Given the description of an element on the screen output the (x, y) to click on. 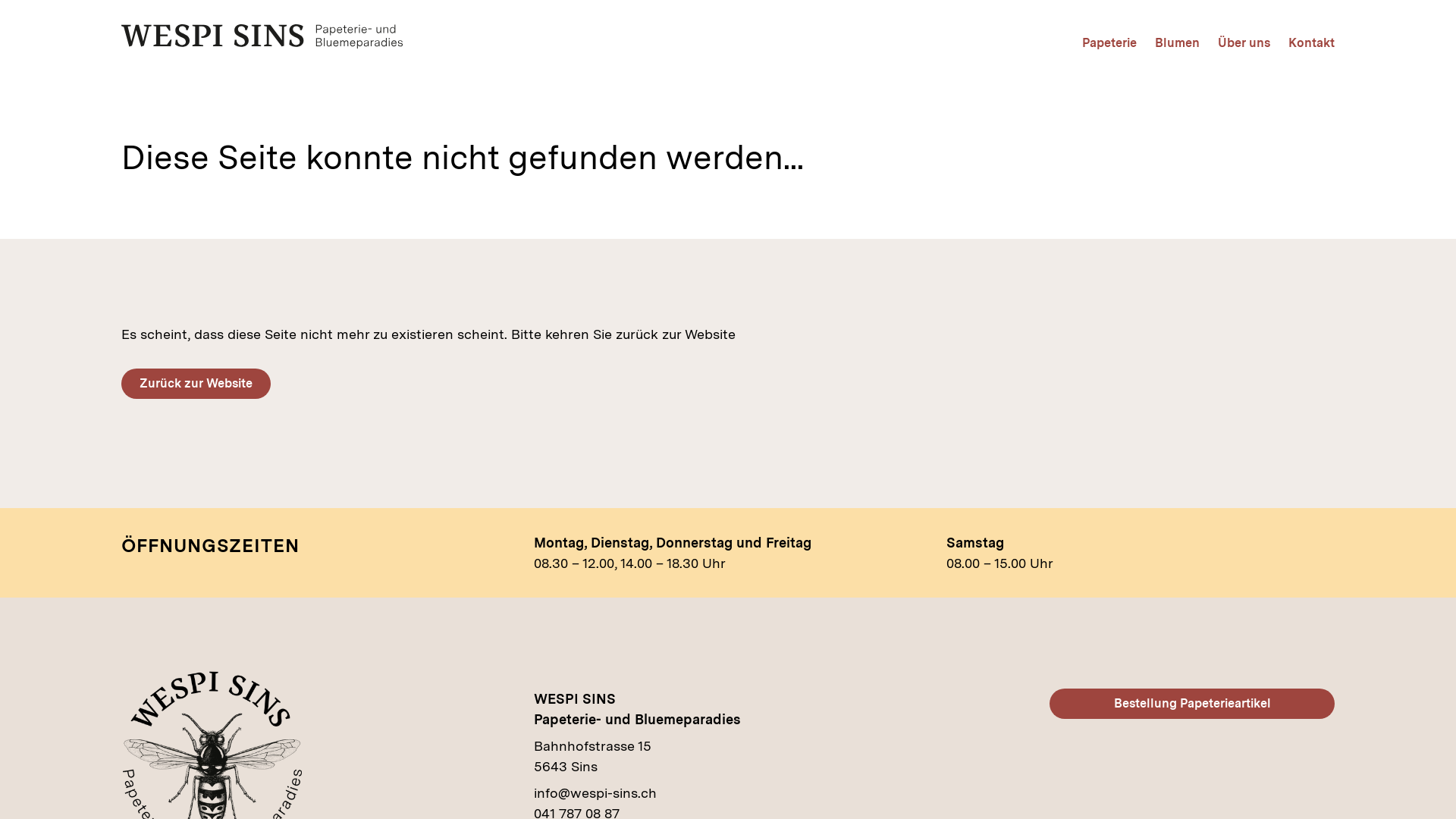
info@wespi-sins.ch Element type: text (594, 792)
Kontakt Element type: text (1311, 43)
Blumen Element type: text (1176, 43)
Papeterie Element type: text (1109, 43)
Bestellung Papeterieartikel Element type: text (1191, 703)
